Given the description of an element on the screen output the (x, y) to click on. 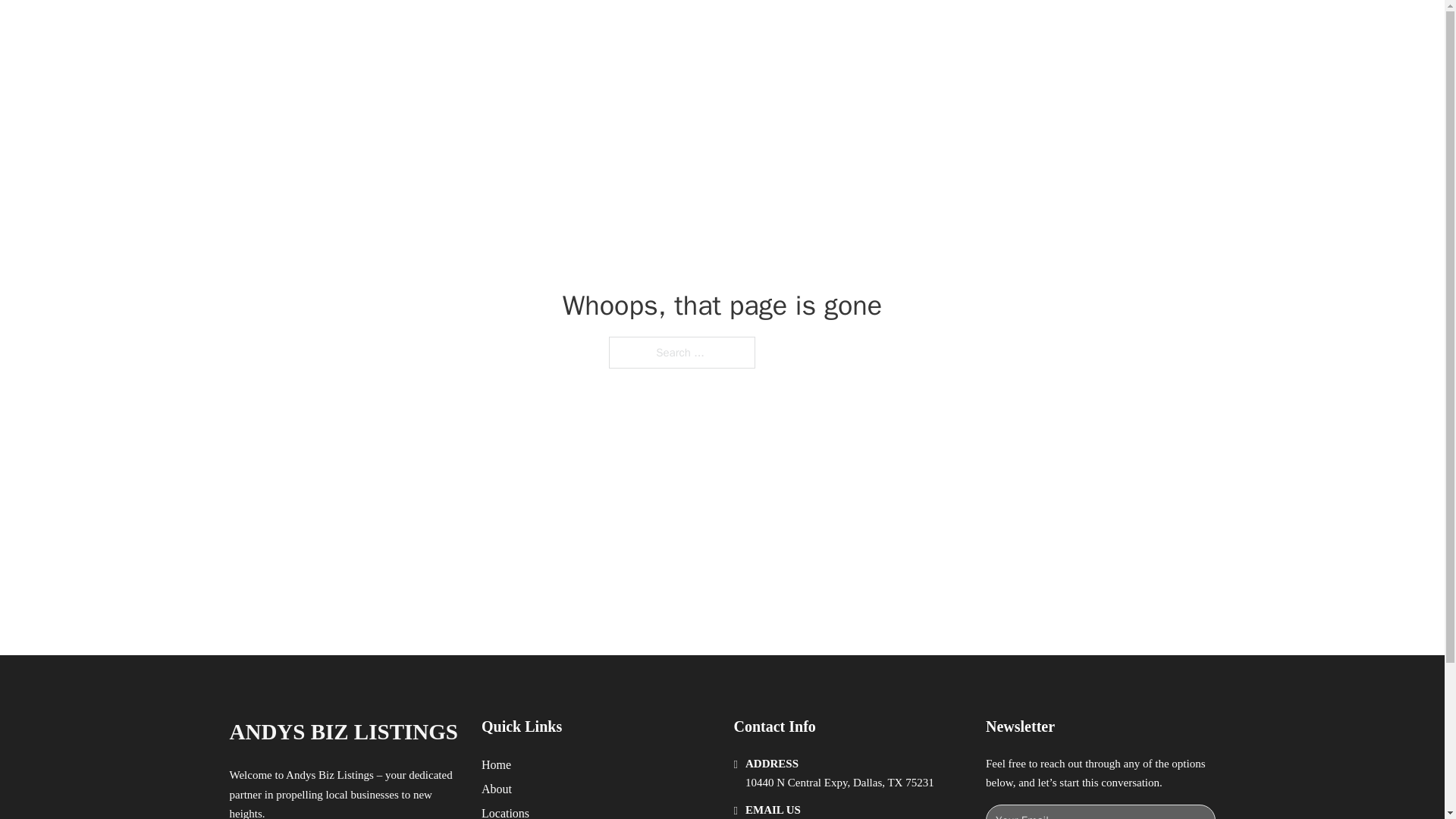
Home (496, 764)
HOME (919, 29)
ANDYS BIZ LISTINGS (413, 28)
ANDYS BIZ LISTINGS (342, 732)
Locations (505, 811)
About (496, 788)
LOCATIONS (990, 29)
